Given the description of an element on the screen output the (x, y) to click on. 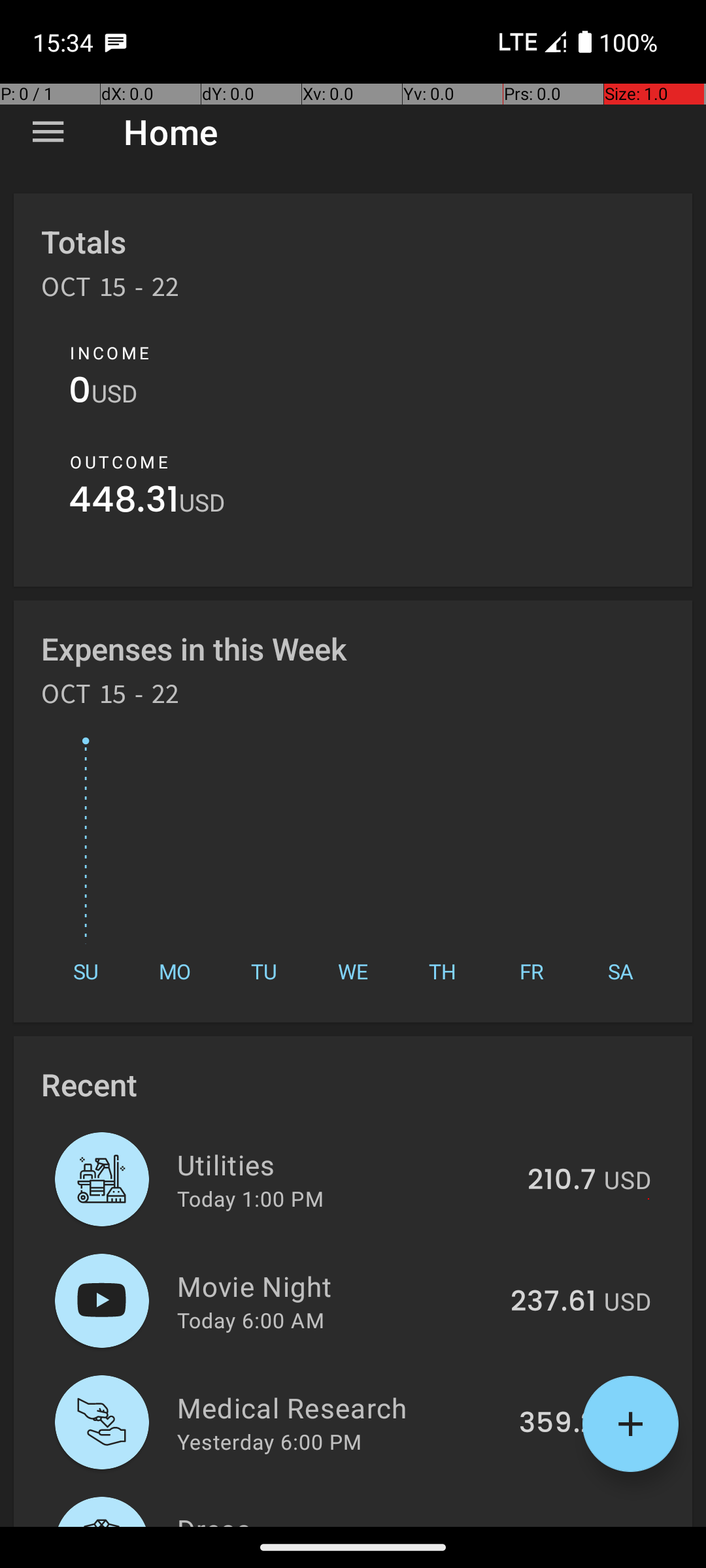
448.31 Element type: android.widget.TextView (123, 502)
Utilities Element type: android.widget.TextView (344, 1164)
Today 1:00 PM Element type: android.widget.TextView (250, 1198)
210.7 Element type: android.widget.TextView (561, 1180)
Movie Night Element type: android.widget.TextView (336, 1285)
Today 6:00 AM Element type: android.widget.TextView (250, 1320)
237.61 Element type: android.widget.TextView (552, 1301)
Medical Research Element type: android.widget.TextView (340, 1407)
Yesterday 6:00 PM Element type: android.widget.TextView (269, 1441)
359.2 Element type: android.widget.TextView (557, 1423)
Dress Element type: android.widget.TextView (335, 1518)
321.86 Element type: android.widget.TextView (551, 1524)
